Given the description of an element on the screen output the (x, y) to click on. 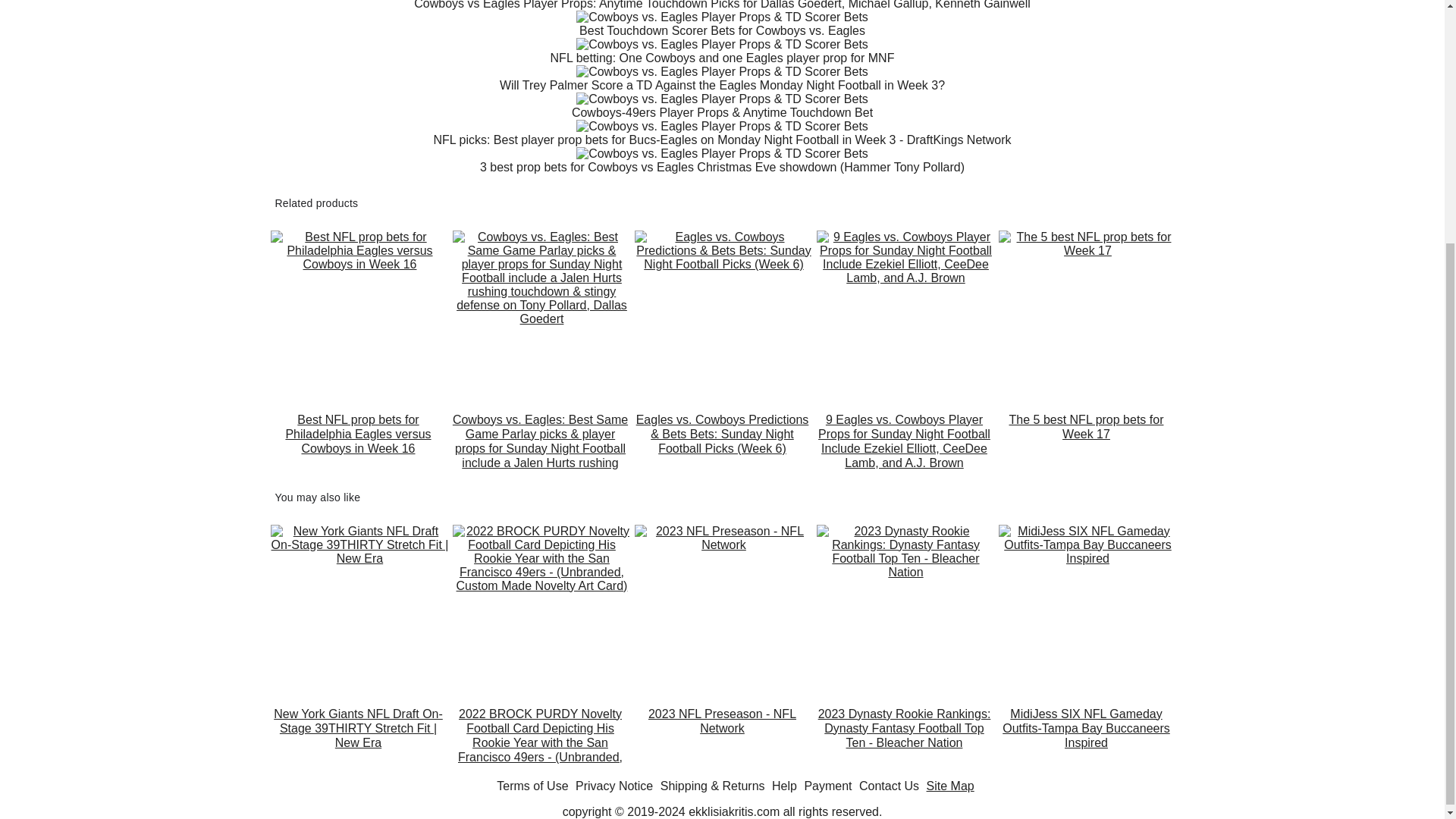
2023 NFL Preseason - NFL Network (721, 735)
Payment (827, 785)
Privacy Notice (613, 785)
Help (783, 785)
Terms of Use (531, 785)
